Given the description of an element on the screen output the (x, y) to click on. 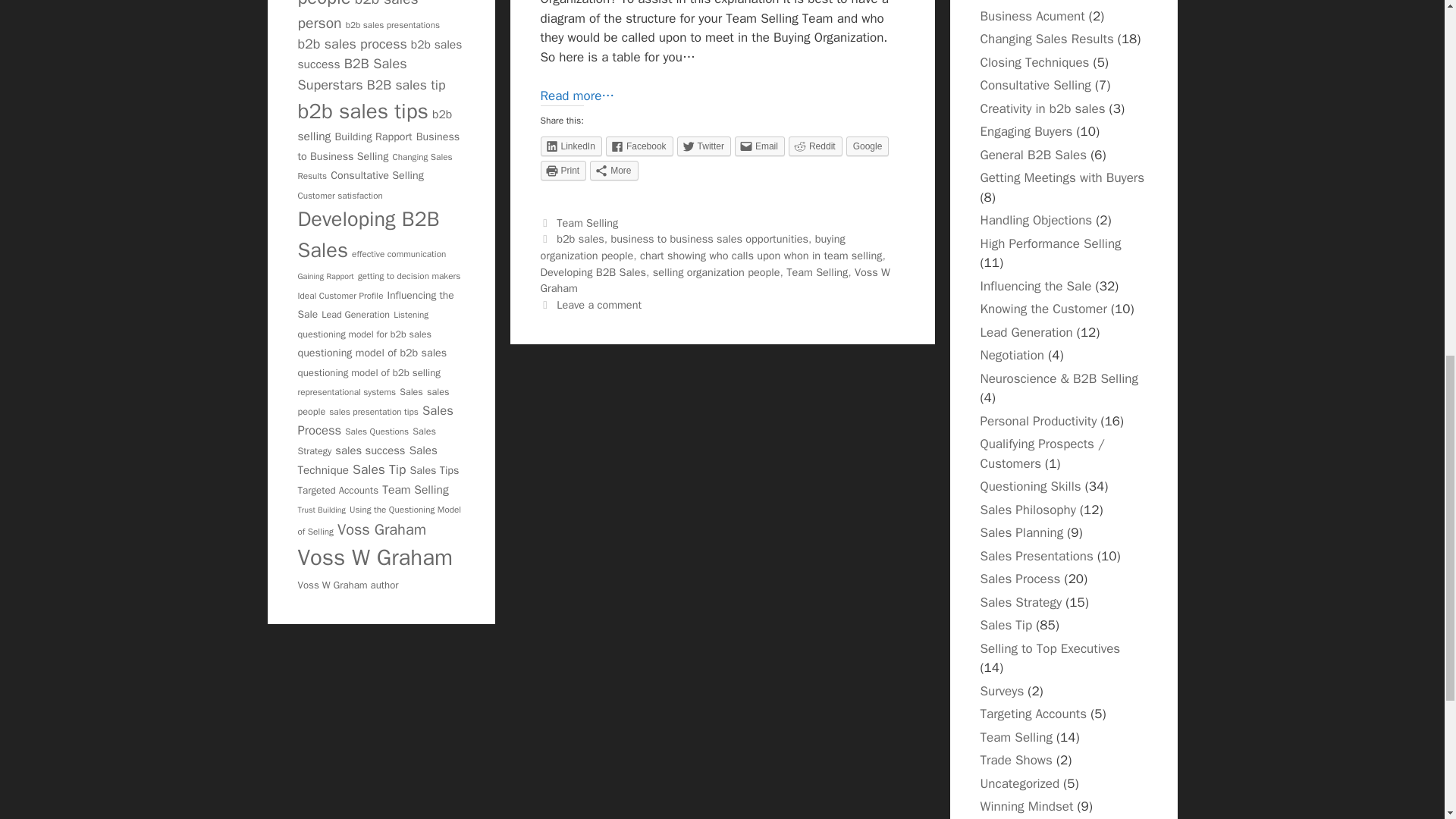
b2b sales (580, 238)
Facebook (638, 146)
Email (759, 146)
Click to share on Reddit (816, 146)
Who Belongs on a Team Selling Team? (577, 95)
chart showing who calls upon whon in team selling (761, 255)
More (613, 170)
business to business sales opportunities (709, 238)
Team Selling (586, 223)
b2b sales people (363, 4)
